Given the description of an element on the screen output the (x, y) to click on. 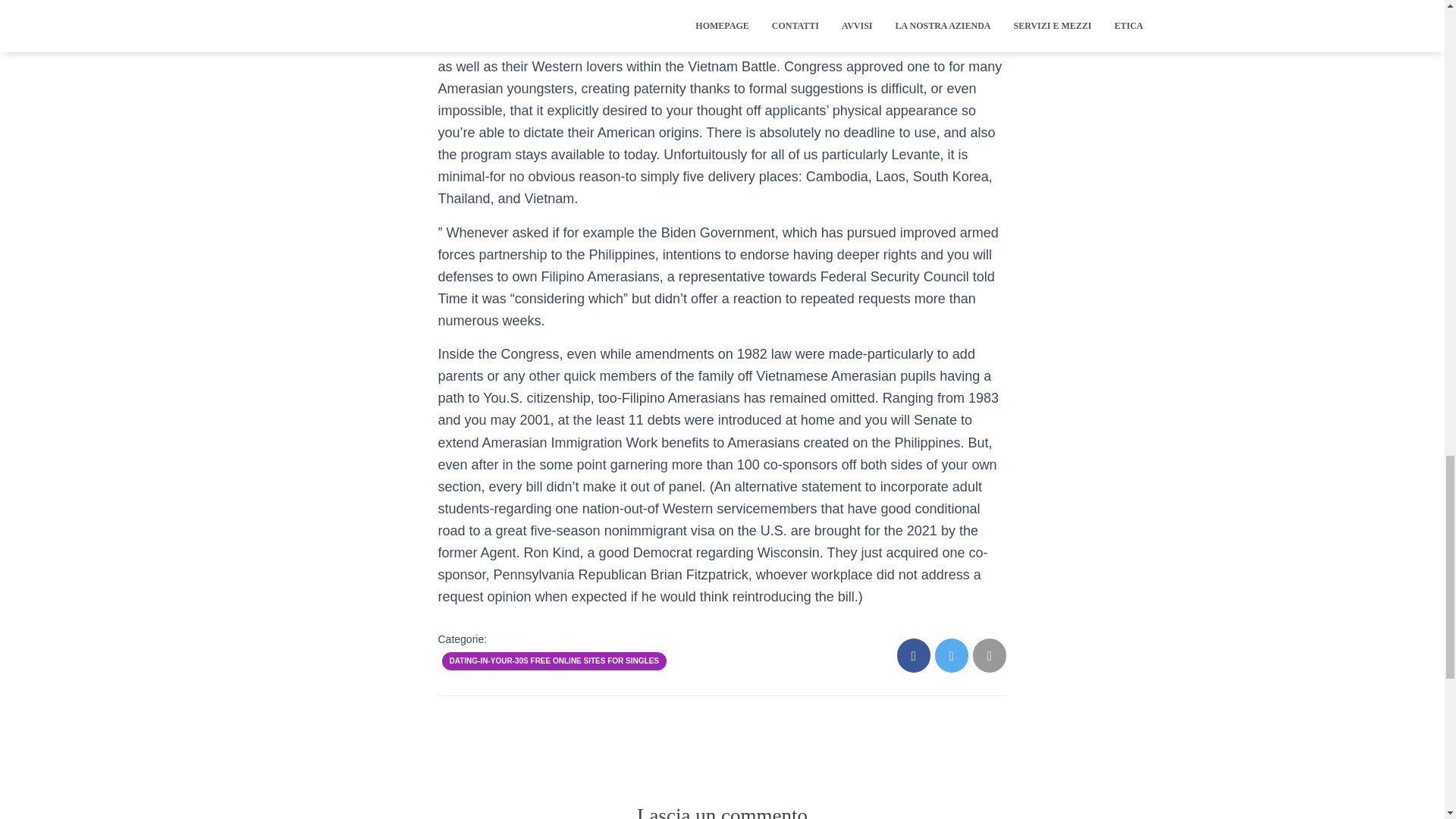
DATING-IN-YOUR-30S FREE ONLINE SITES FOR SINGLES (553, 661)
